Given the description of an element on the screen output the (x, y) to click on. 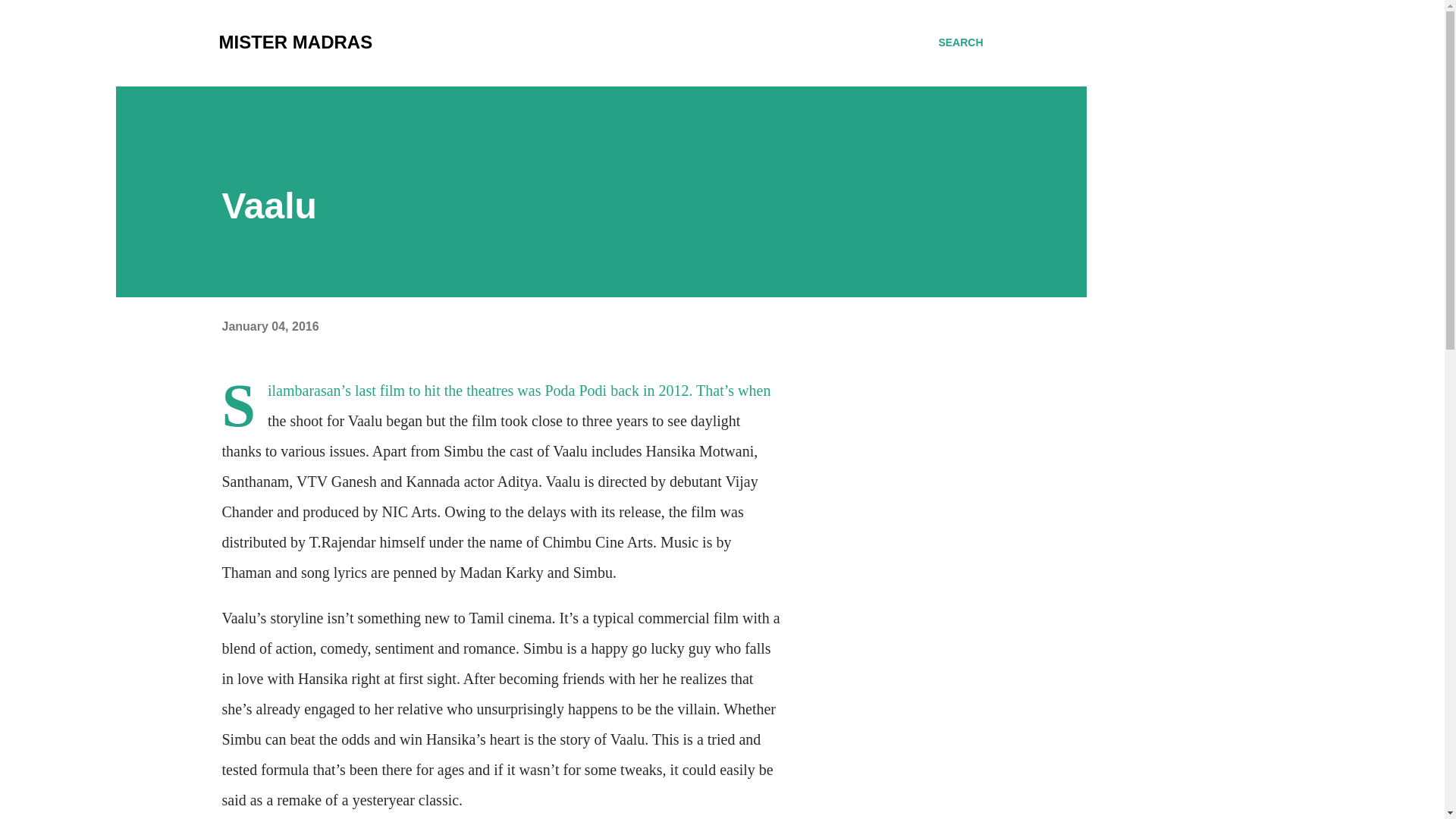
permanent link (269, 326)
January 04, 2016 (269, 326)
SEARCH (959, 42)
MISTER MADRAS (295, 41)
